Given the description of an element on the screen output the (x, y) to click on. 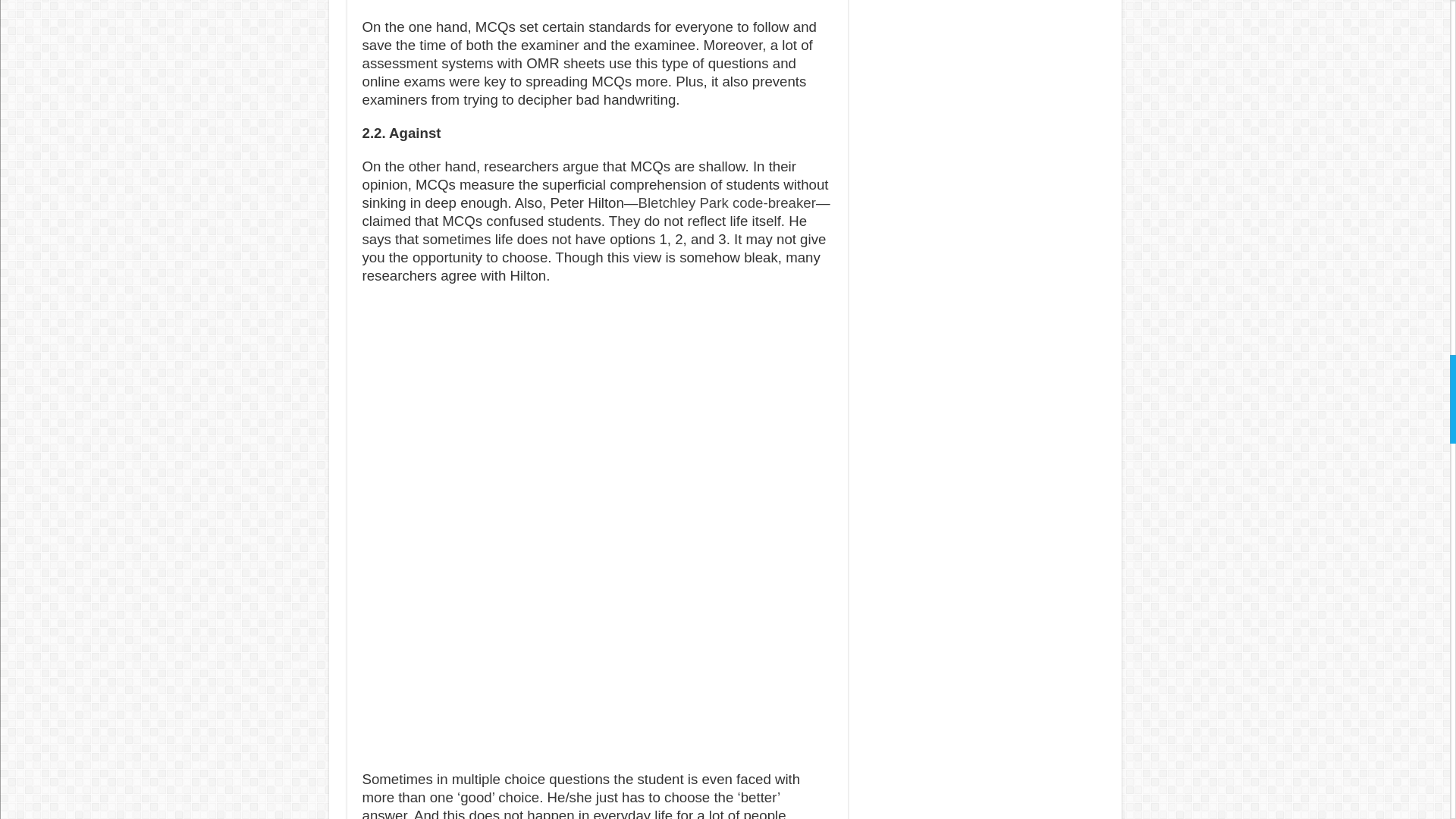
Bletchley Park code-breaker (727, 201)
